Given the description of an element on the screen output the (x, y) to click on. 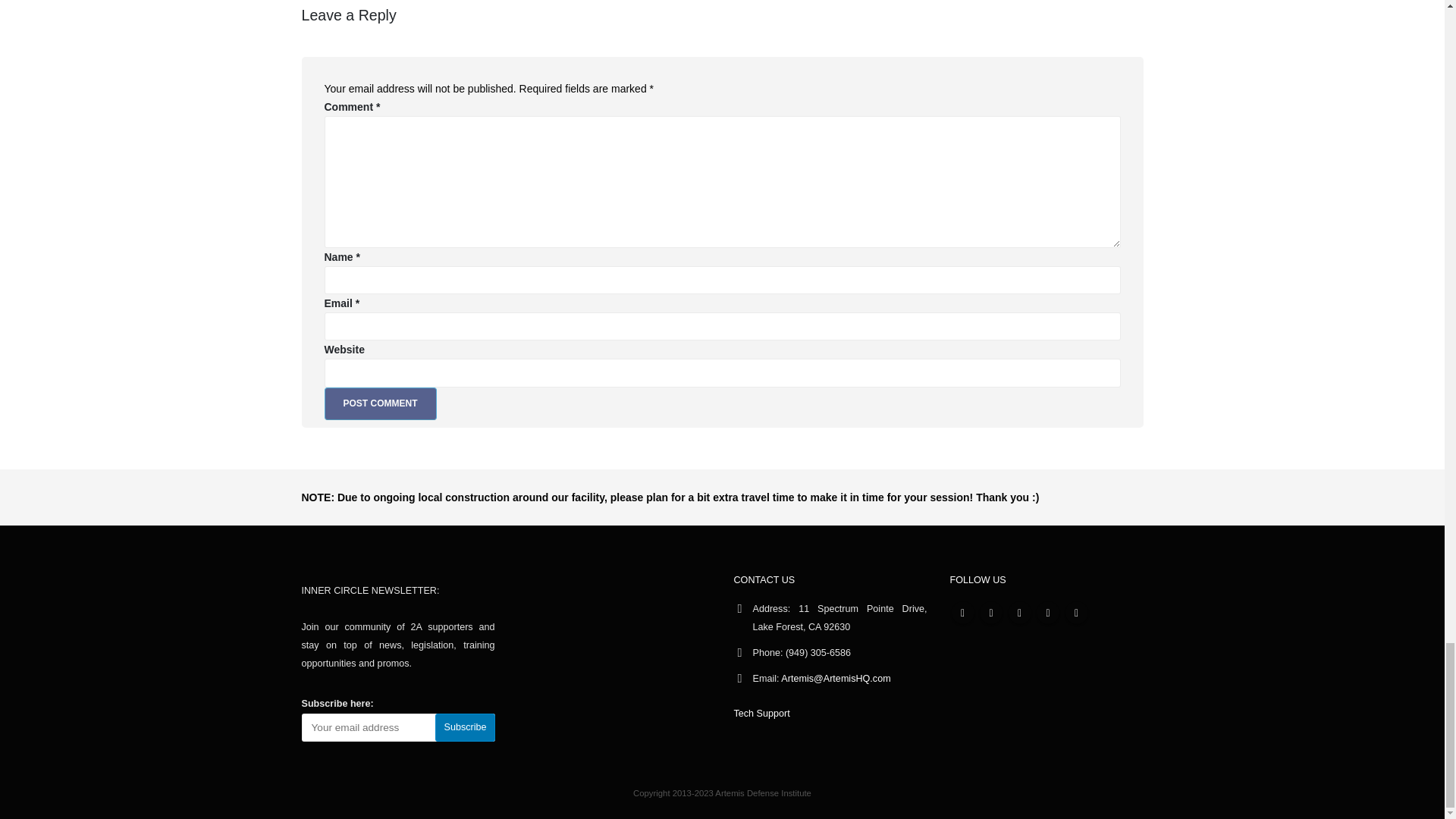
Youtube (1019, 612)
Yelp (1075, 612)
Post Comment (380, 403)
Twitter (991, 612)
Subscribe (465, 727)
Facebook (962, 612)
Instagram (1047, 612)
